Given the description of an element on the screen output the (x, y) to click on. 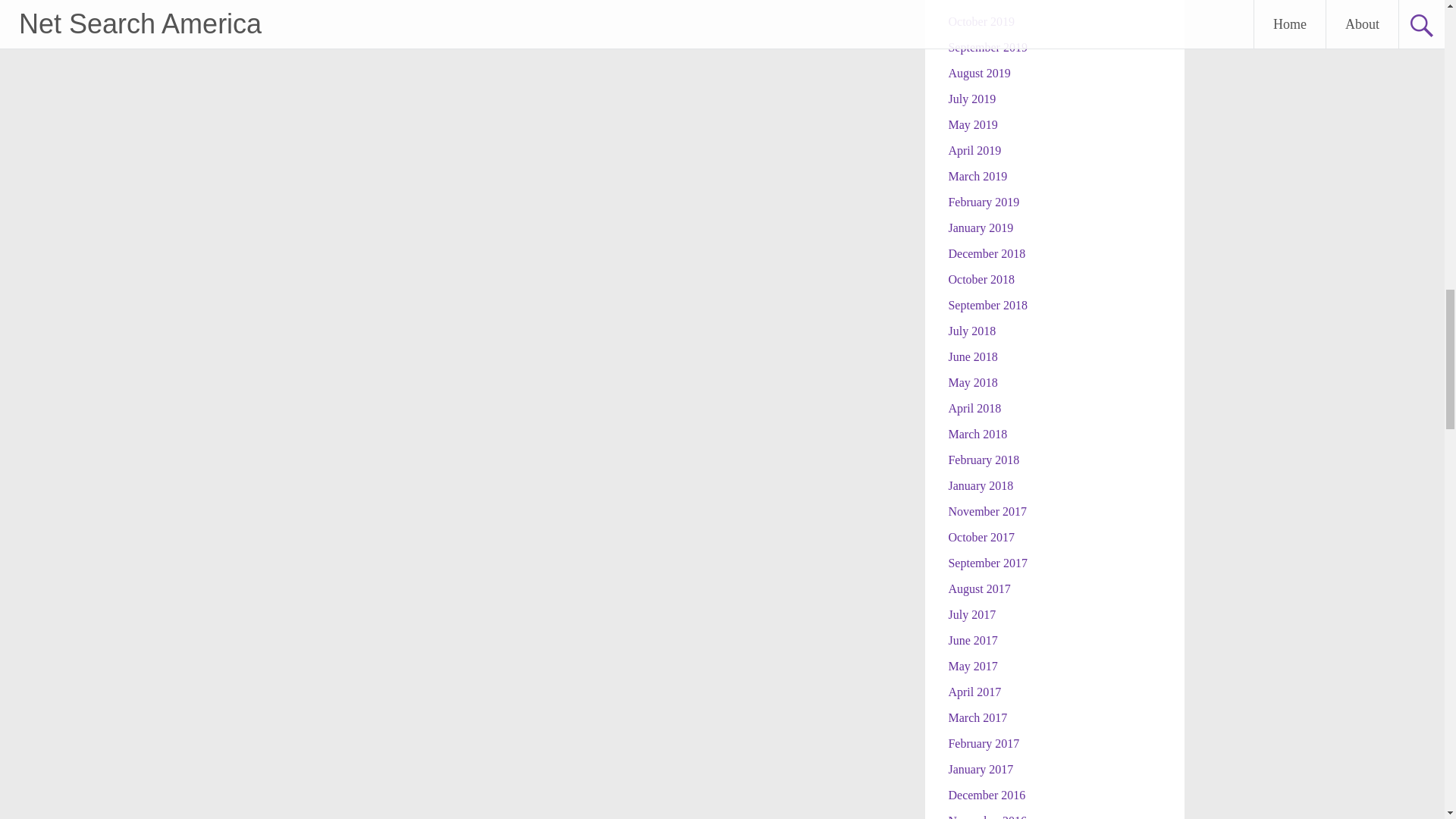
July 2019 (971, 98)
April 2019 (974, 150)
October 2019 (980, 21)
May 2019 (972, 124)
August 2019 (978, 72)
November 2019 (986, 1)
January 2019 (980, 227)
September 2019 (986, 47)
February 2019 (983, 201)
March 2019 (977, 175)
